Given the description of an element on the screen output the (x, y) to click on. 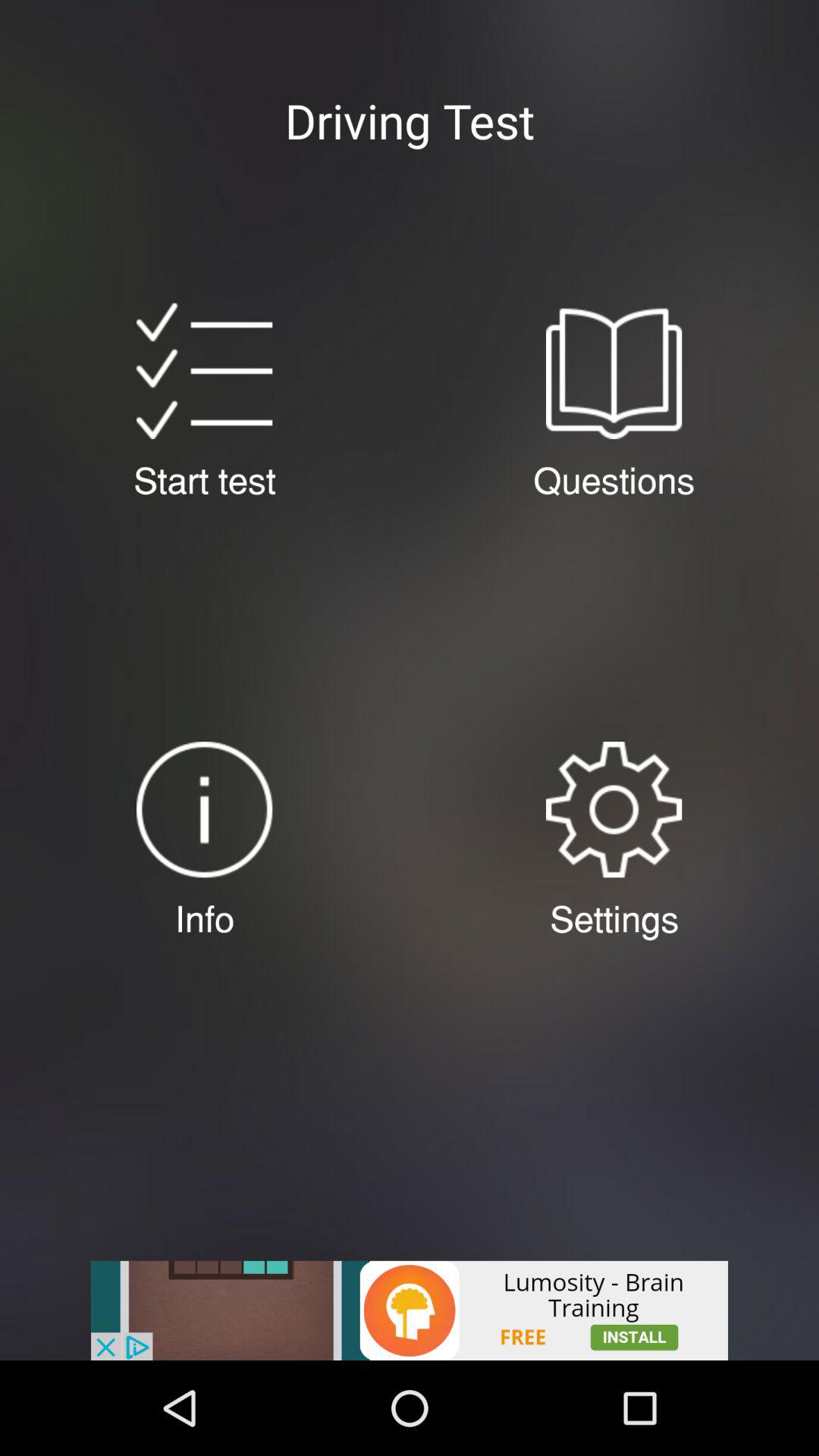
know about the advertisement (409, 1310)
